Given the description of an element on the screen output the (x, y) to click on. 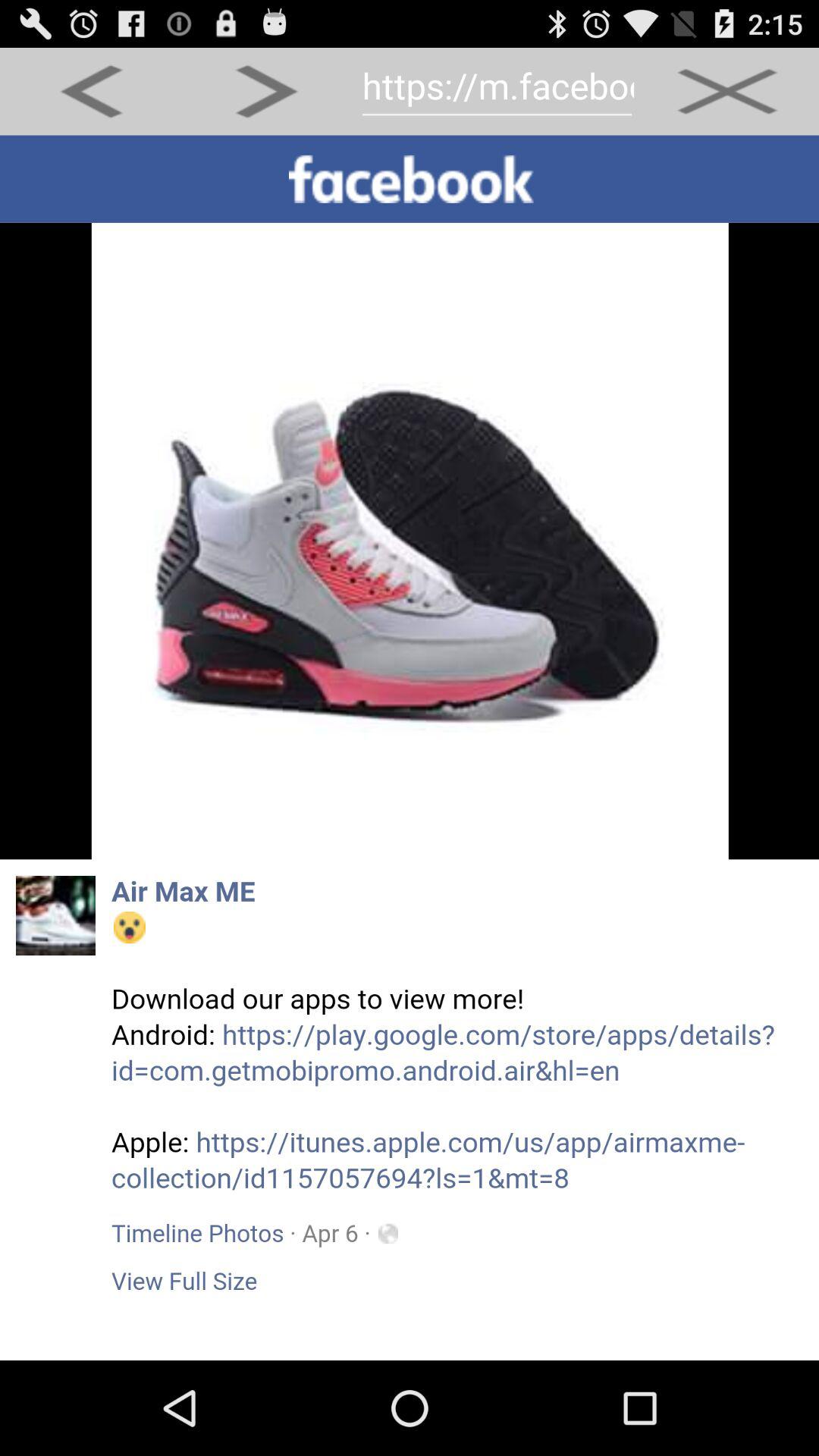
close (727, 91)
